Given the description of an element on the screen output the (x, y) to click on. 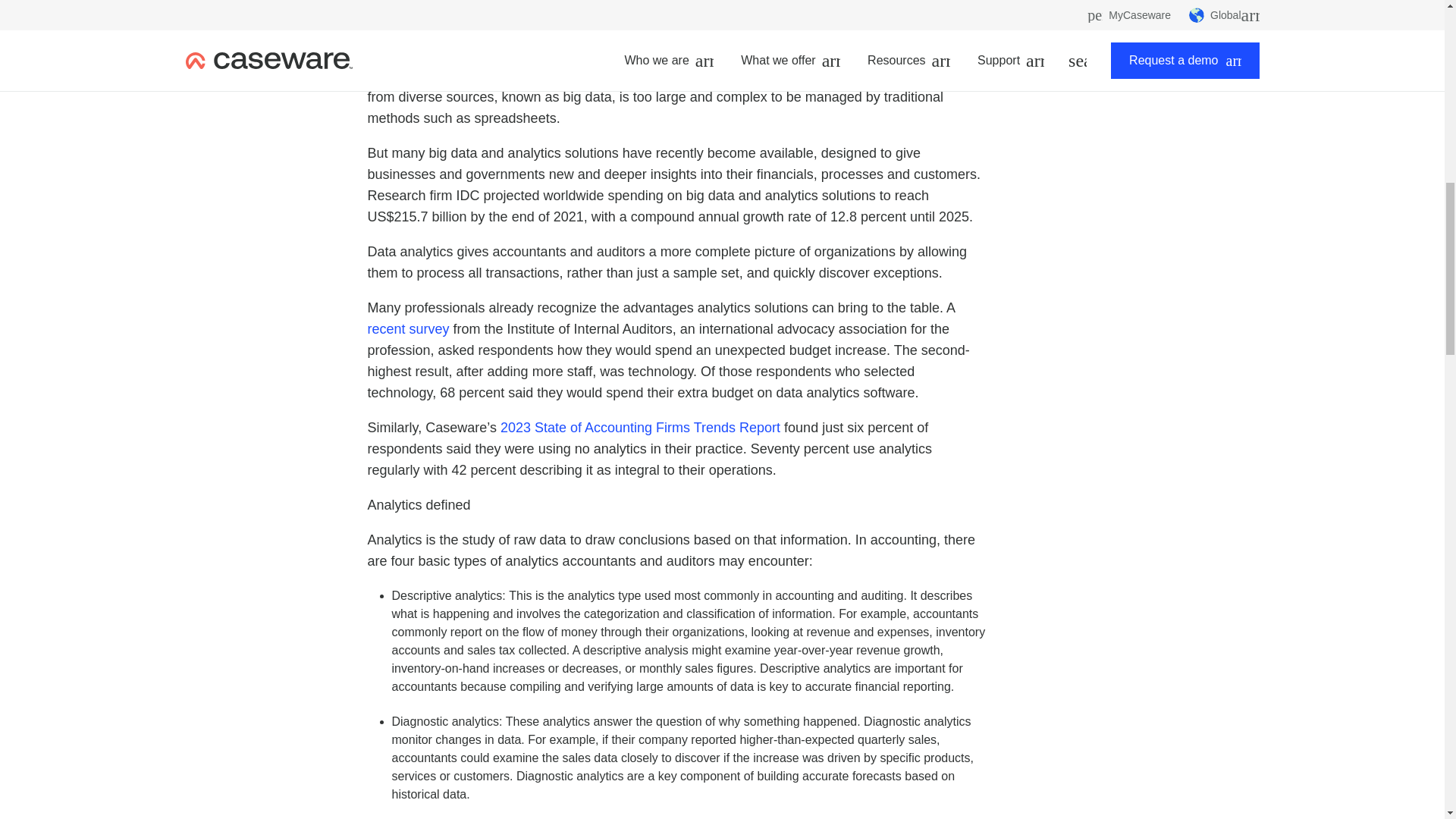
Share on Linked in (1006, 5)
Share on Facebook (946, 5)
Share on Twitter (976, 5)
